Given the description of an element on the screen output the (x, y) to click on. 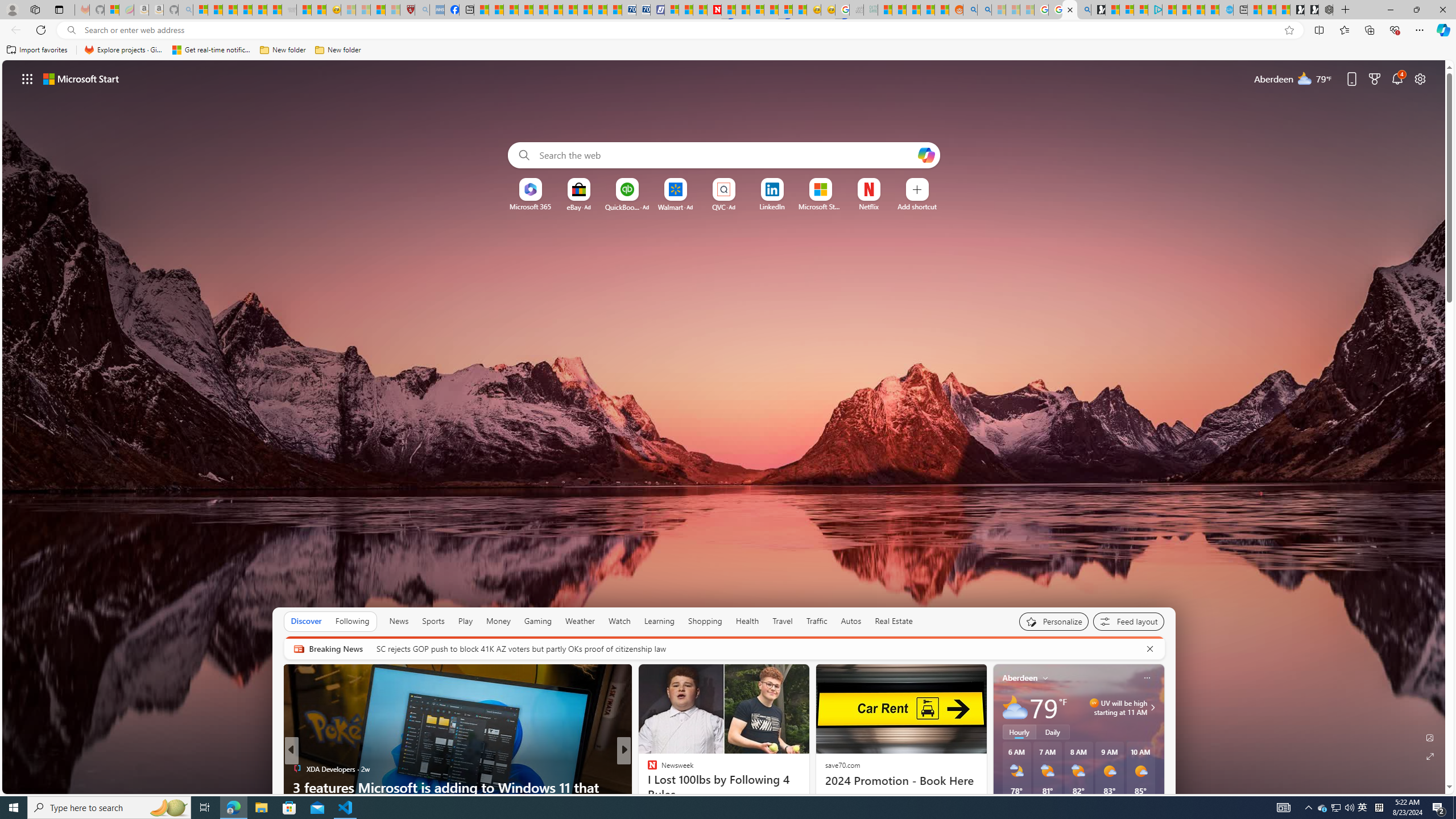
Expand background (1430, 756)
Autos (850, 621)
World - MSN (510, 9)
Real Estate (893, 621)
